Given the description of an element on the screen output the (x, y) to click on. 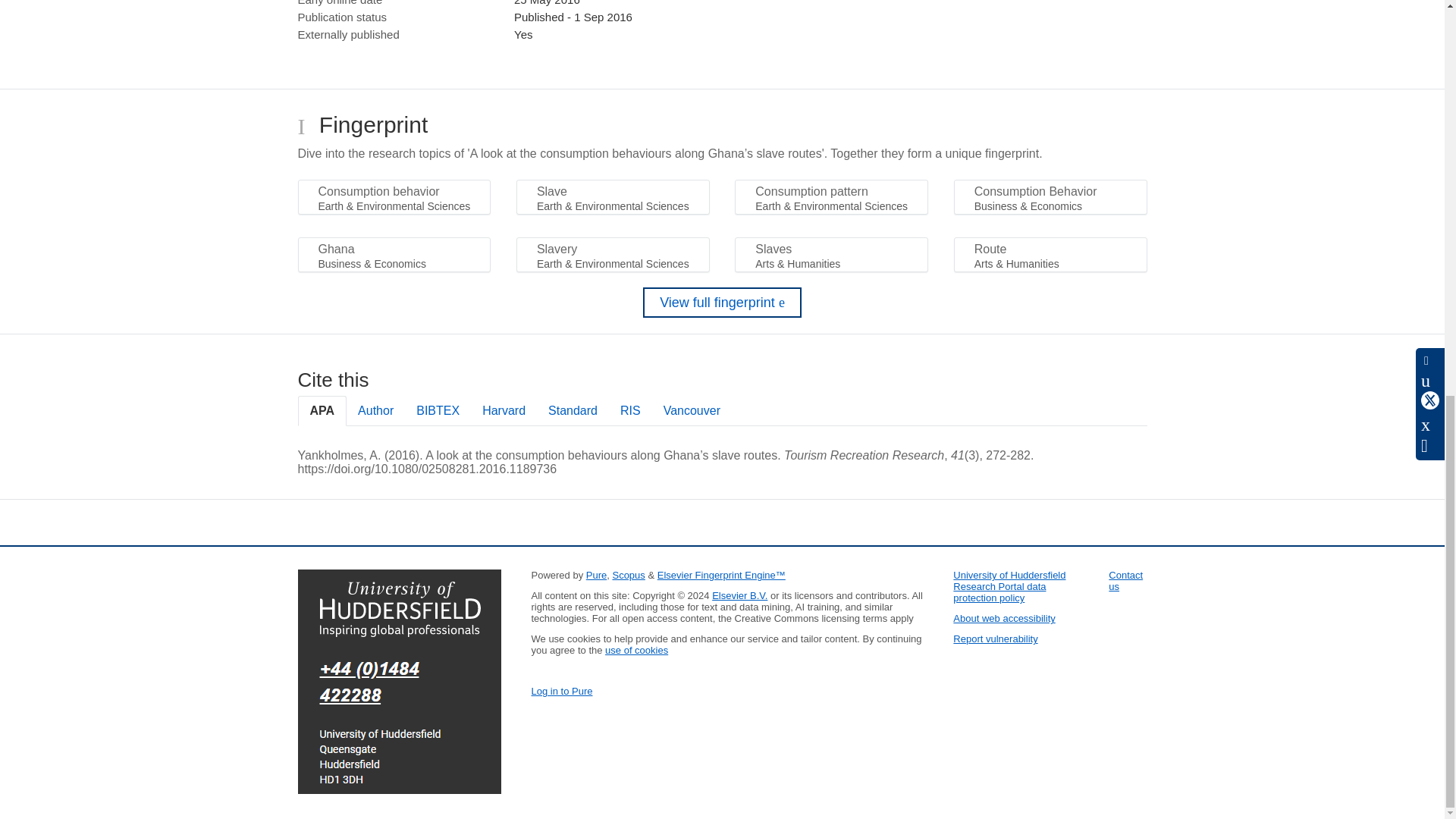
Elsevier B.V. (739, 595)
View full fingerprint (722, 302)
Scopus (628, 574)
Pure (596, 574)
